Given the description of an element on the screen output the (x, y) to click on. 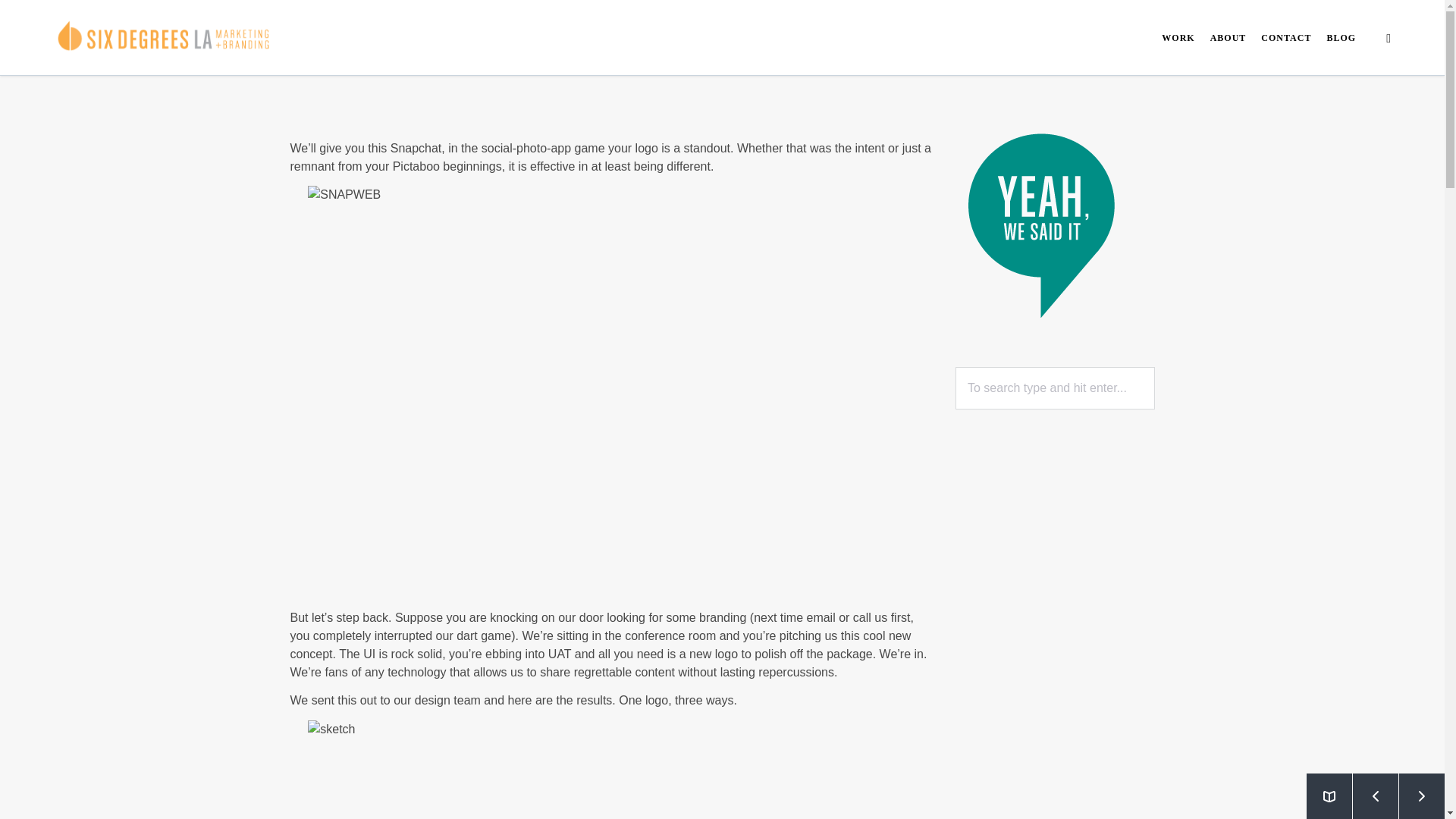
Back to Blog (1329, 796)
Prev (1374, 796)
Back to Blog (1329, 796)
SIX DEGREES LA (163, 38)
